Given the description of an element on the screen output the (x, y) to click on. 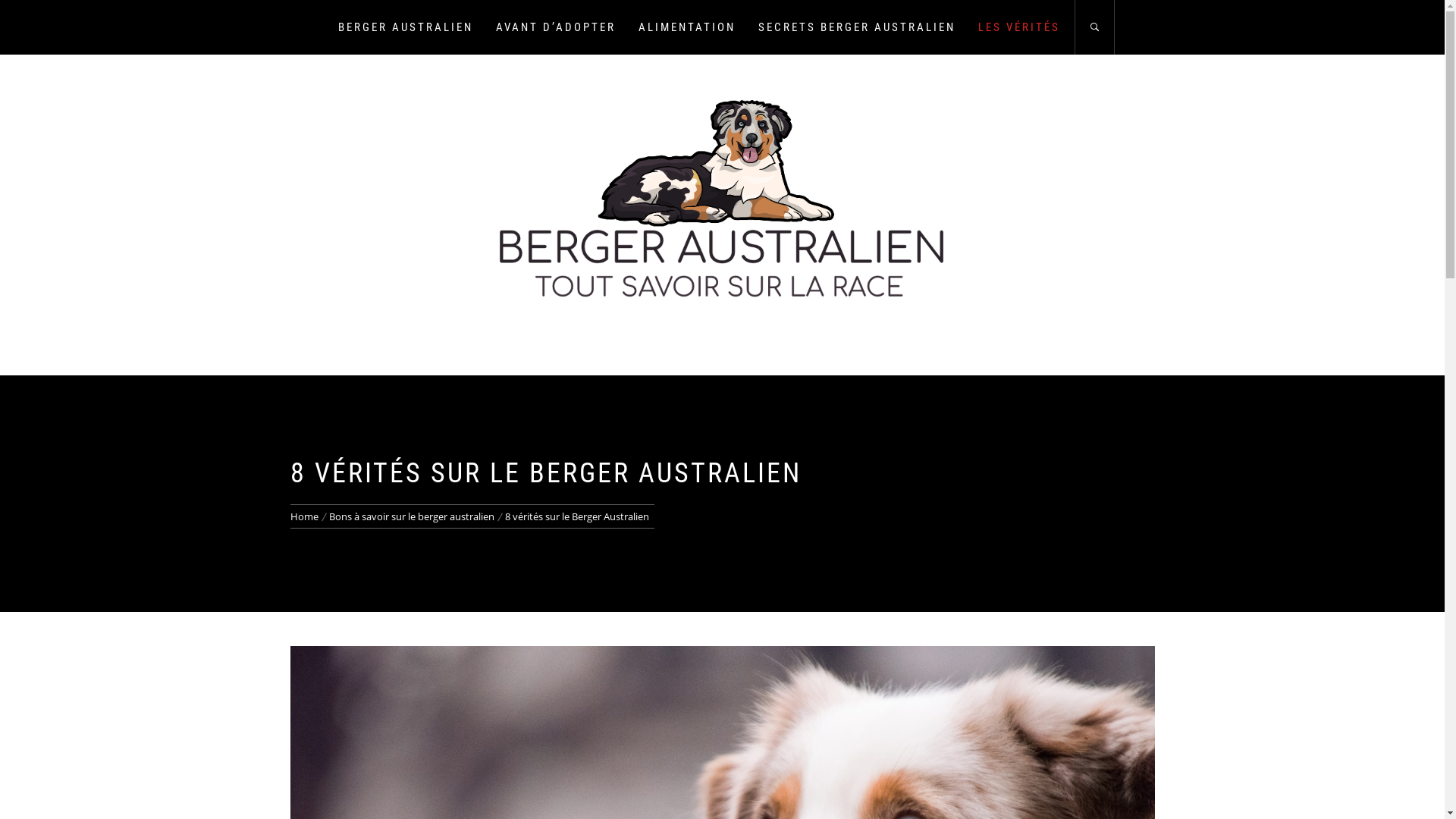
Rechercher Element type: text (797, 408)
BERGER AUSTRALIEN Element type: text (721, 374)
BERGER AUSTRALIEN Element type: text (405, 27)
ALIMENTATION Element type: text (686, 27)
Home Element type: text (306, 516)
SECRETS BERGER AUSTRALIEN Element type: text (856, 27)
